Given the description of an element on the screen output the (x, y) to click on. 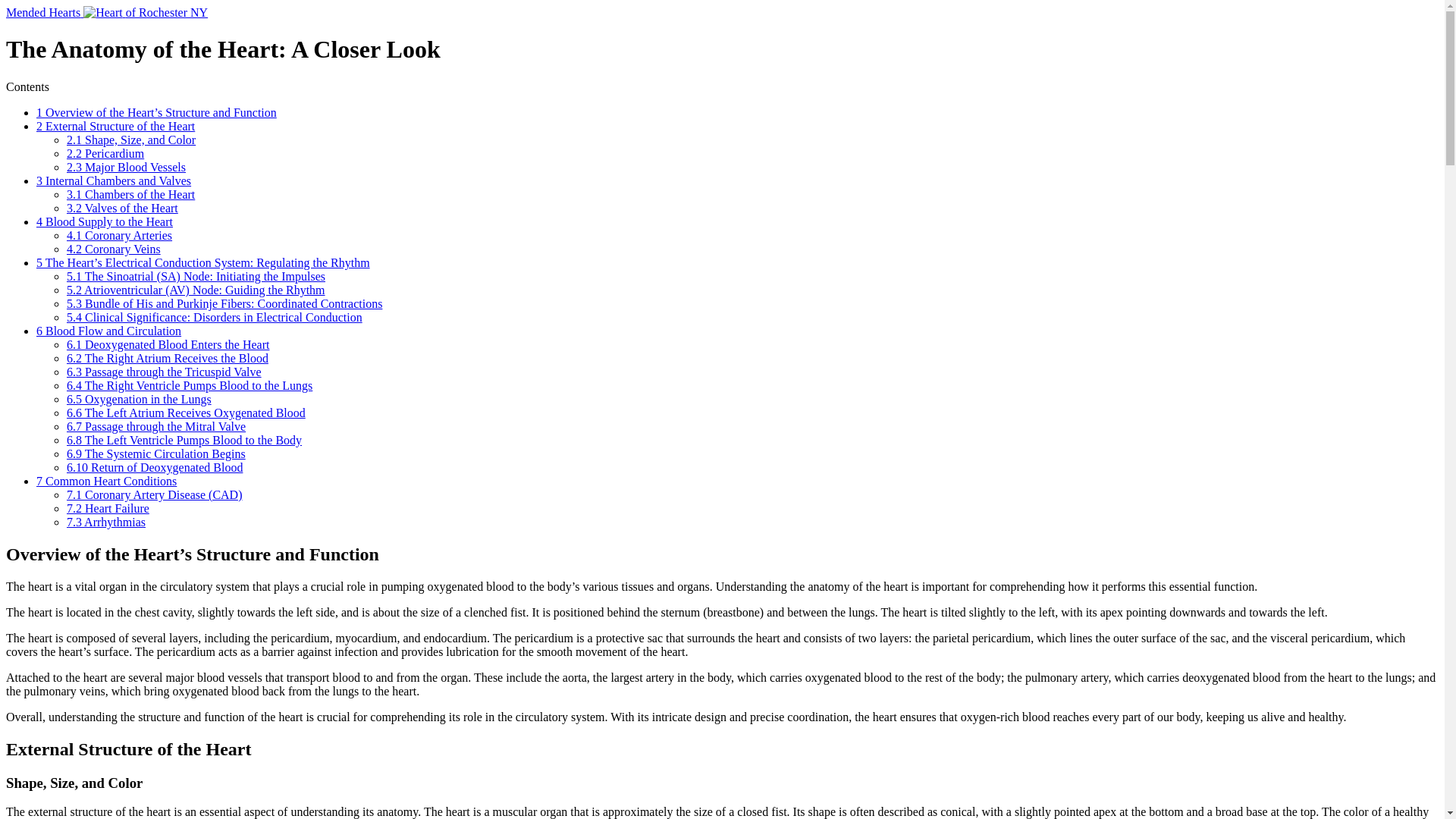
2.1 Shape, Size, and Color (130, 139)
2 External Structure of the Heart (115, 125)
2.3 Major Blood Vessels (126, 166)
6.10 Return of Deoxygenated Blood (154, 467)
7 Common Heart Conditions (106, 481)
4 Blood Supply to the Heart (104, 221)
4.2 Coronary Veins (113, 248)
6.2 The Right Atrium Receives the Blood (166, 358)
6 Blood Flow and Circulation (108, 330)
